Given the description of an element on the screen output the (x, y) to click on. 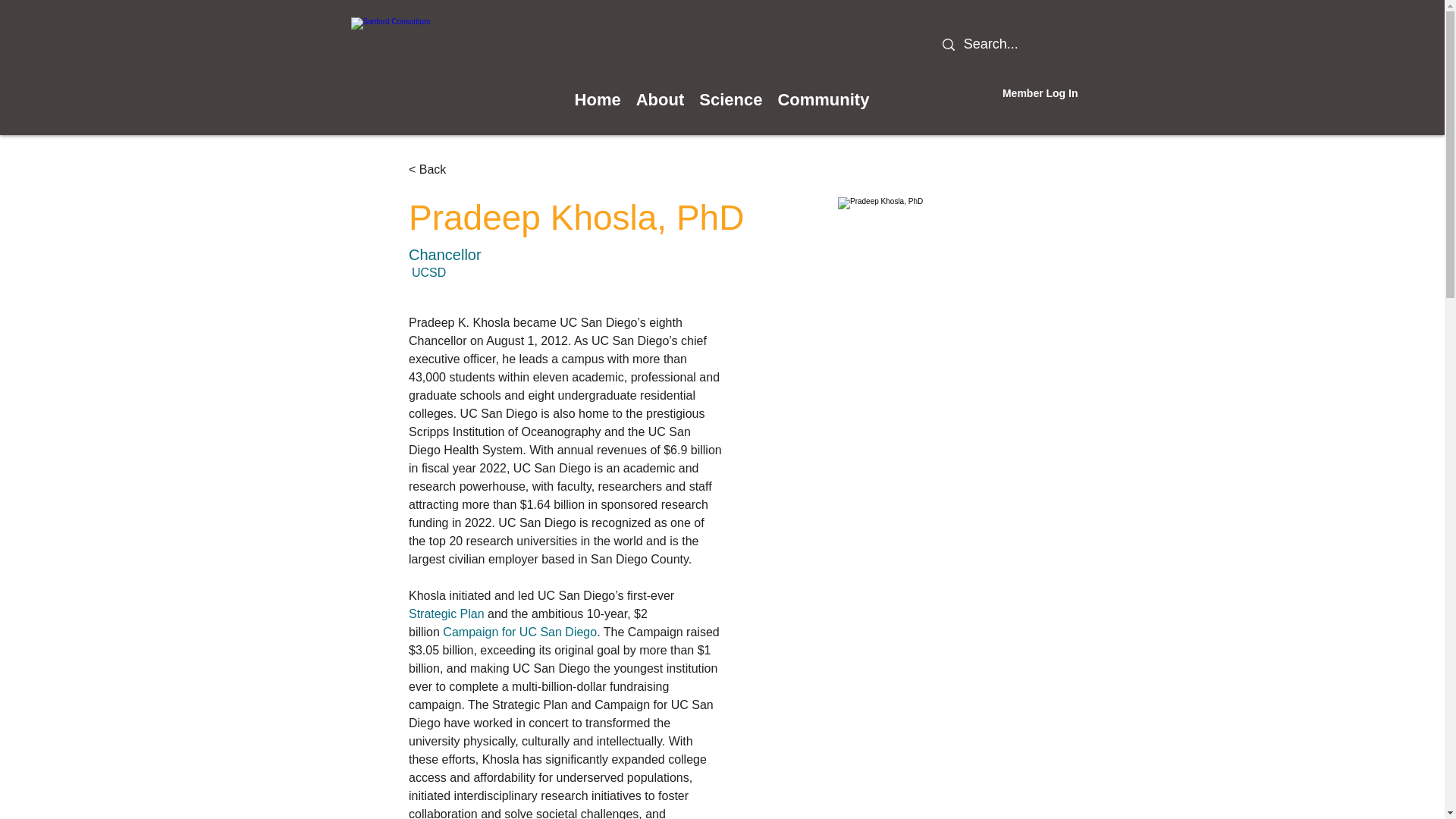
Campaign for UC San Diego (519, 631)
Home (597, 99)
Strategic Plan (446, 613)
About (660, 99)
Member Log In (1040, 93)
chancellor-khosla-2-t.jpg (986, 345)
